Given the description of an element on the screen output the (x, y) to click on. 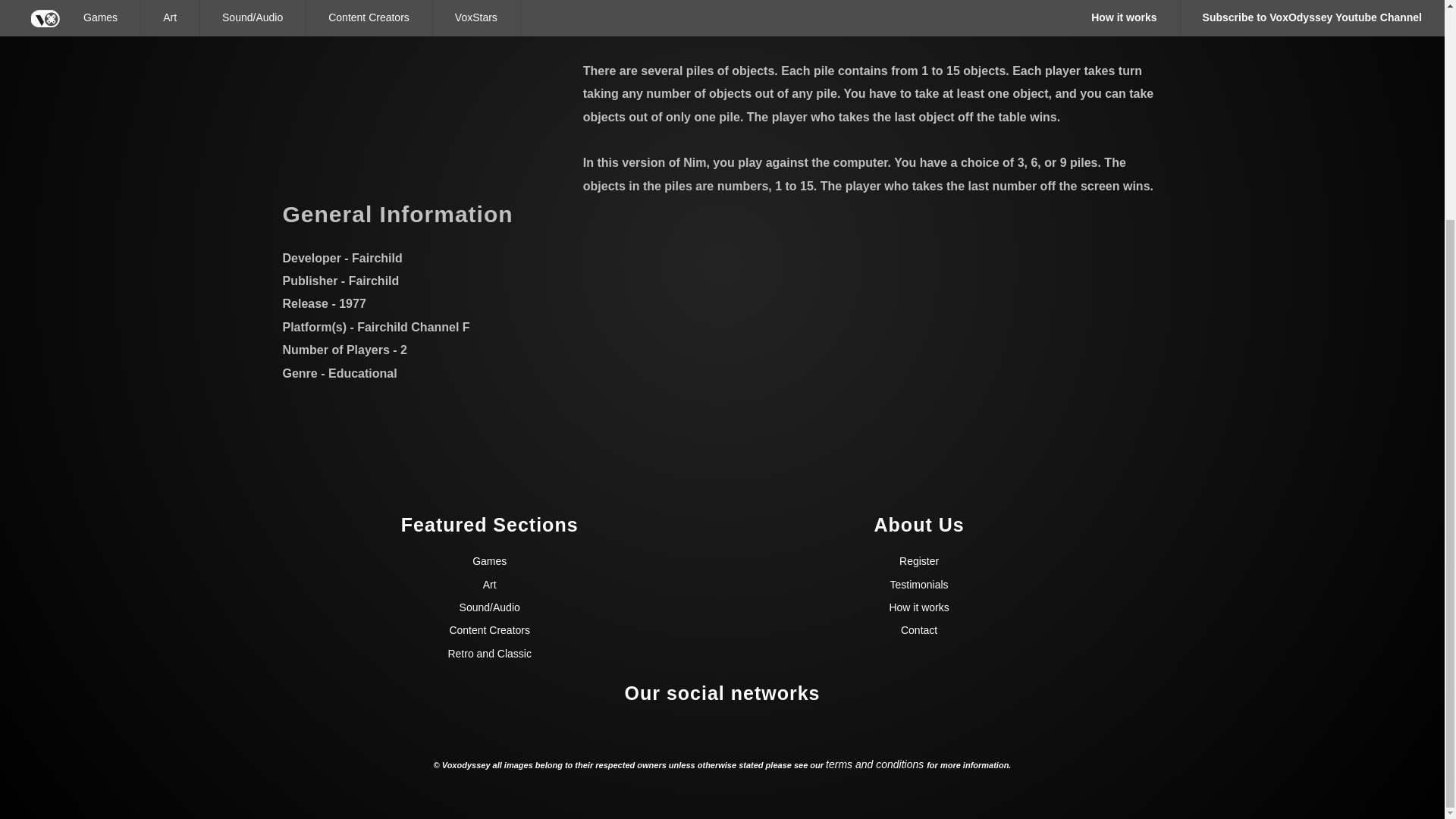
Register (919, 561)
Retro and Classic (488, 653)
Art (489, 584)
Games (488, 561)
terms and conditions (875, 764)
How it works (918, 607)
Content Creators (488, 630)
Contact (919, 630)
Testimonials (919, 584)
